Given the description of an element on the screen output the (x, y) to click on. 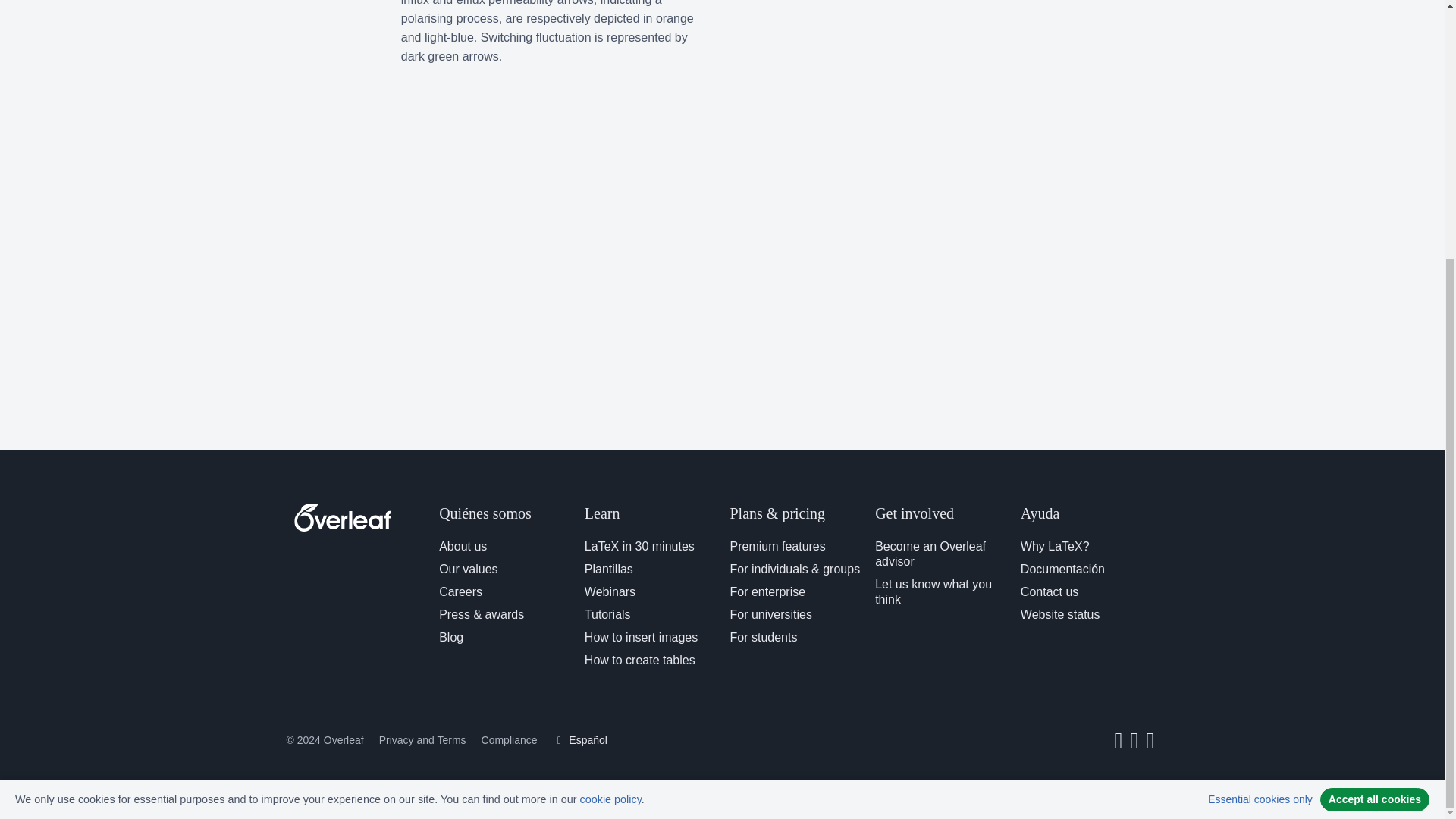
Tutorials (607, 614)
For enterprise (767, 591)
How to create tables (640, 659)
Webinars (609, 591)
LaTeX in 30 minutes (639, 545)
About us (462, 545)
For universities (769, 614)
Careers (460, 591)
Our values (468, 568)
Blog (451, 636)
Plantillas (609, 568)
How to insert images (641, 636)
Premium features (777, 545)
For students (762, 636)
